Given the description of an element on the screen output the (x, y) to click on. 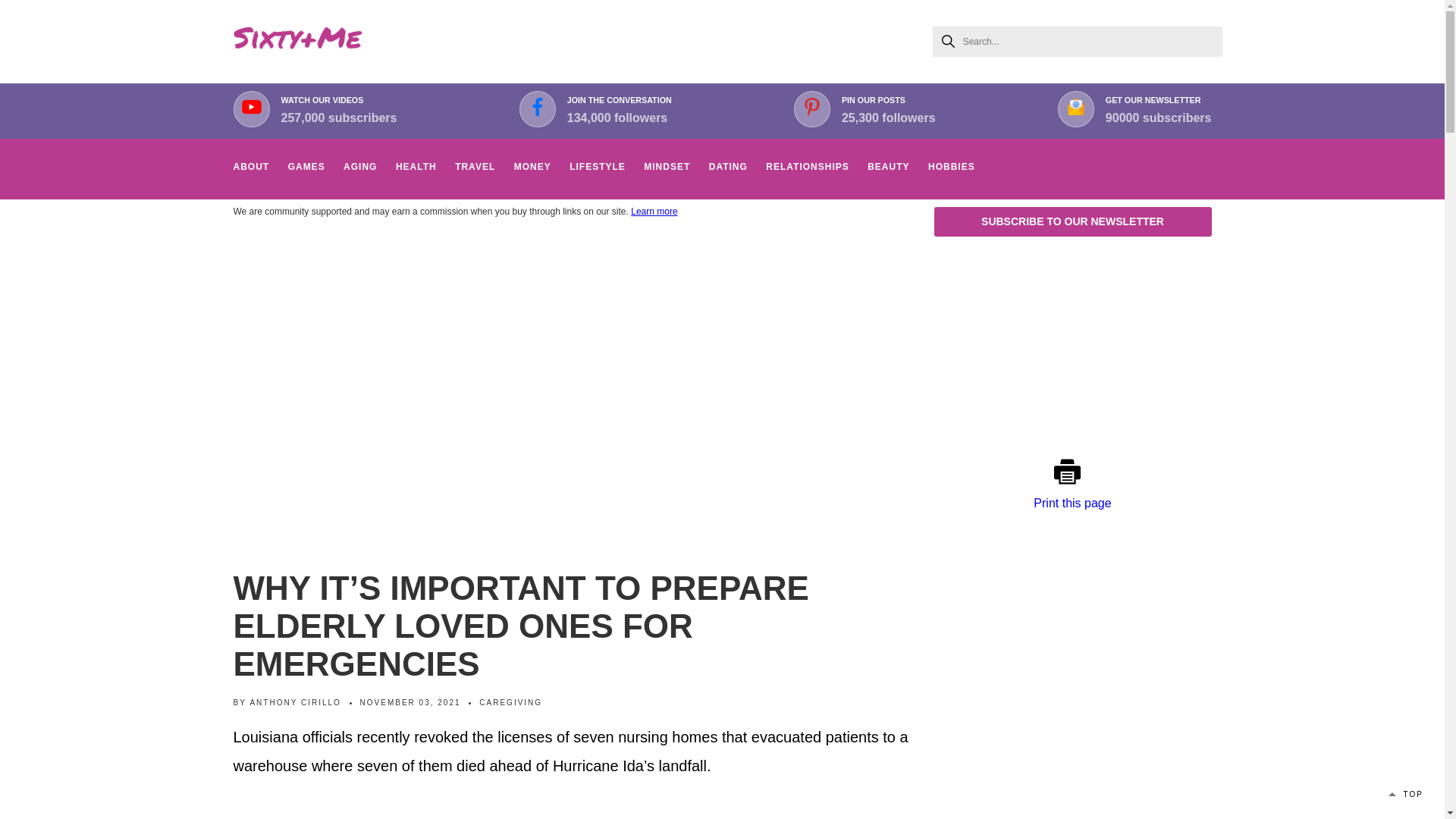
Search... (619, 108)
Sixty and Me (1078, 41)
print this page (297, 40)
